Given the description of an element on the screen output the (x, y) to click on. 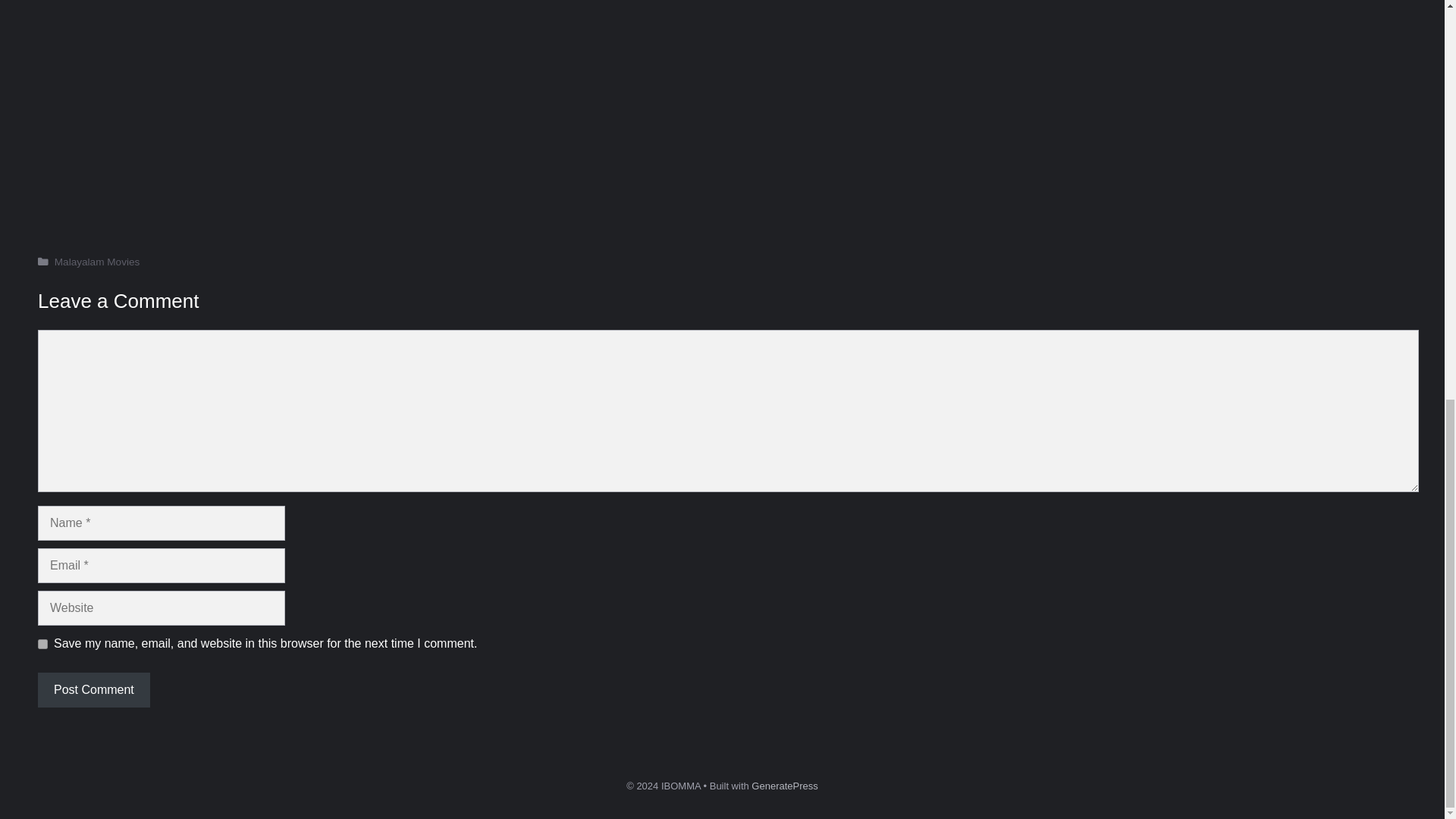
Post Comment (93, 689)
Malayalam Movies (97, 261)
yes (42, 644)
GeneratePress (783, 785)
Scroll back to top (1406, 759)
Post Comment (93, 689)
